Given the description of an element on the screen output the (x, y) to click on. 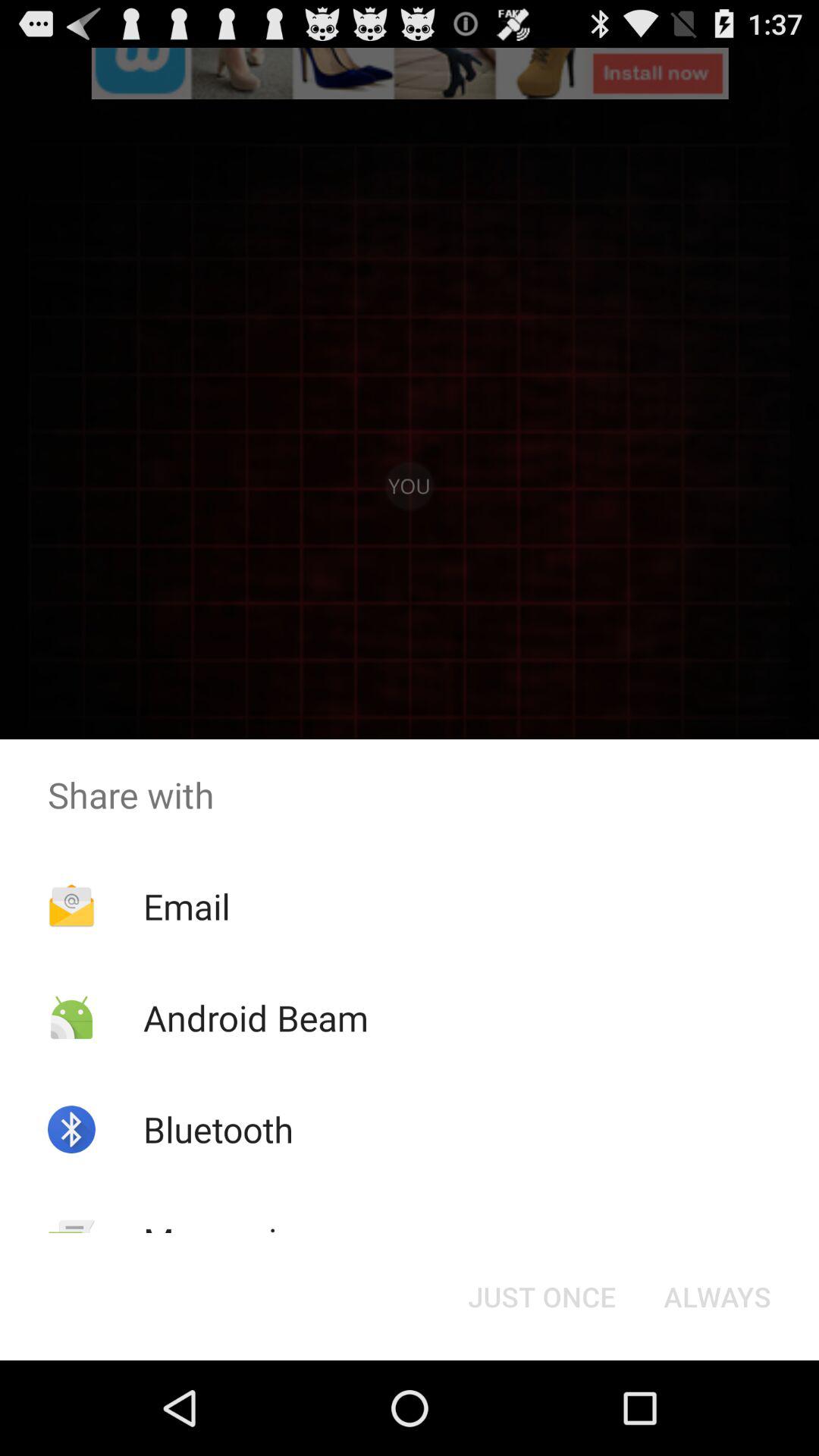
click icon to the left of the just once (229, 1240)
